Given the description of an element on the screen output the (x, y) to click on. 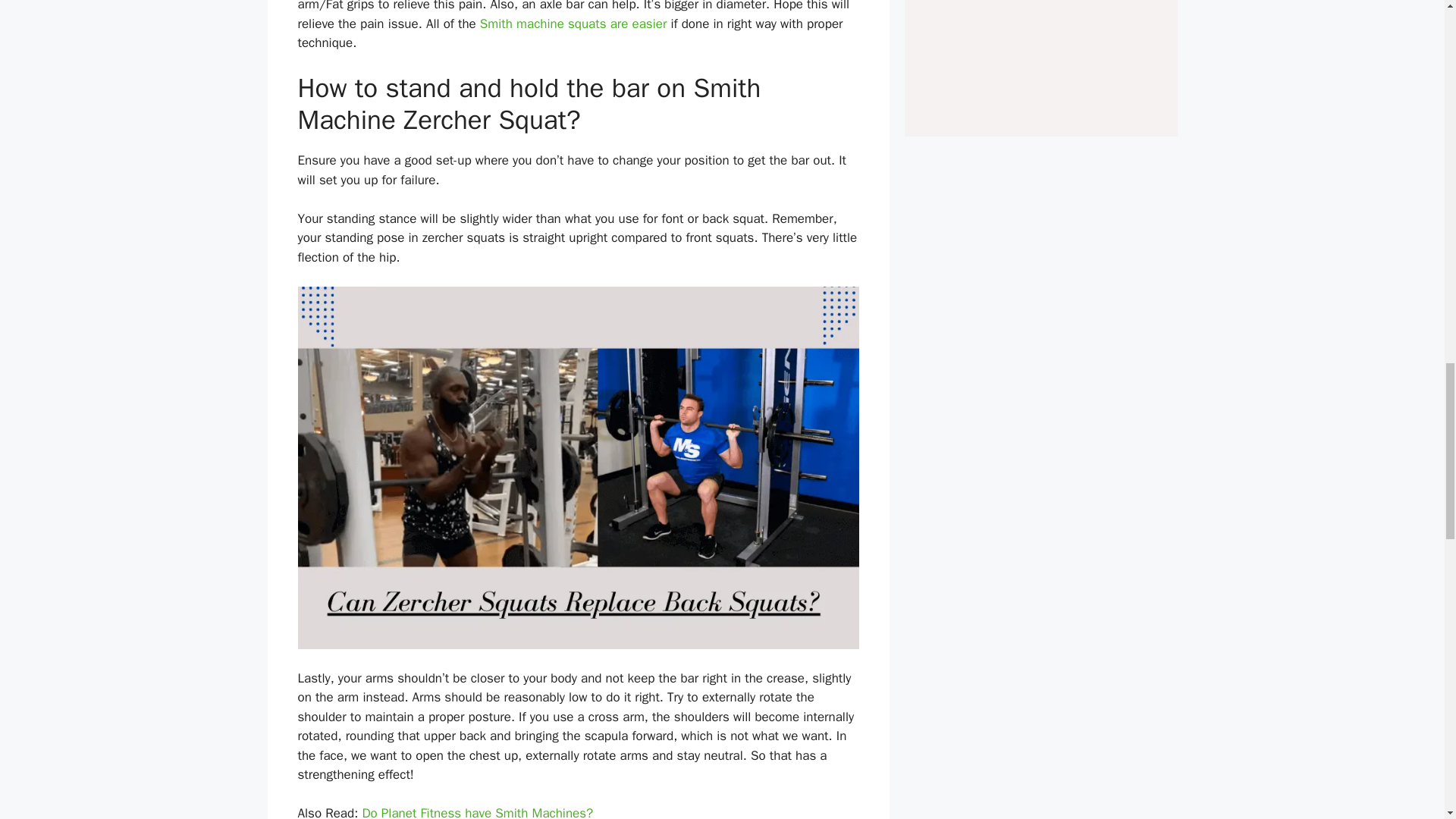
Do Planet Fitness have Smith Machines? (476, 812)
Smith machine squats are easier (575, 23)
